Given the description of an element on the screen output the (x, y) to click on. 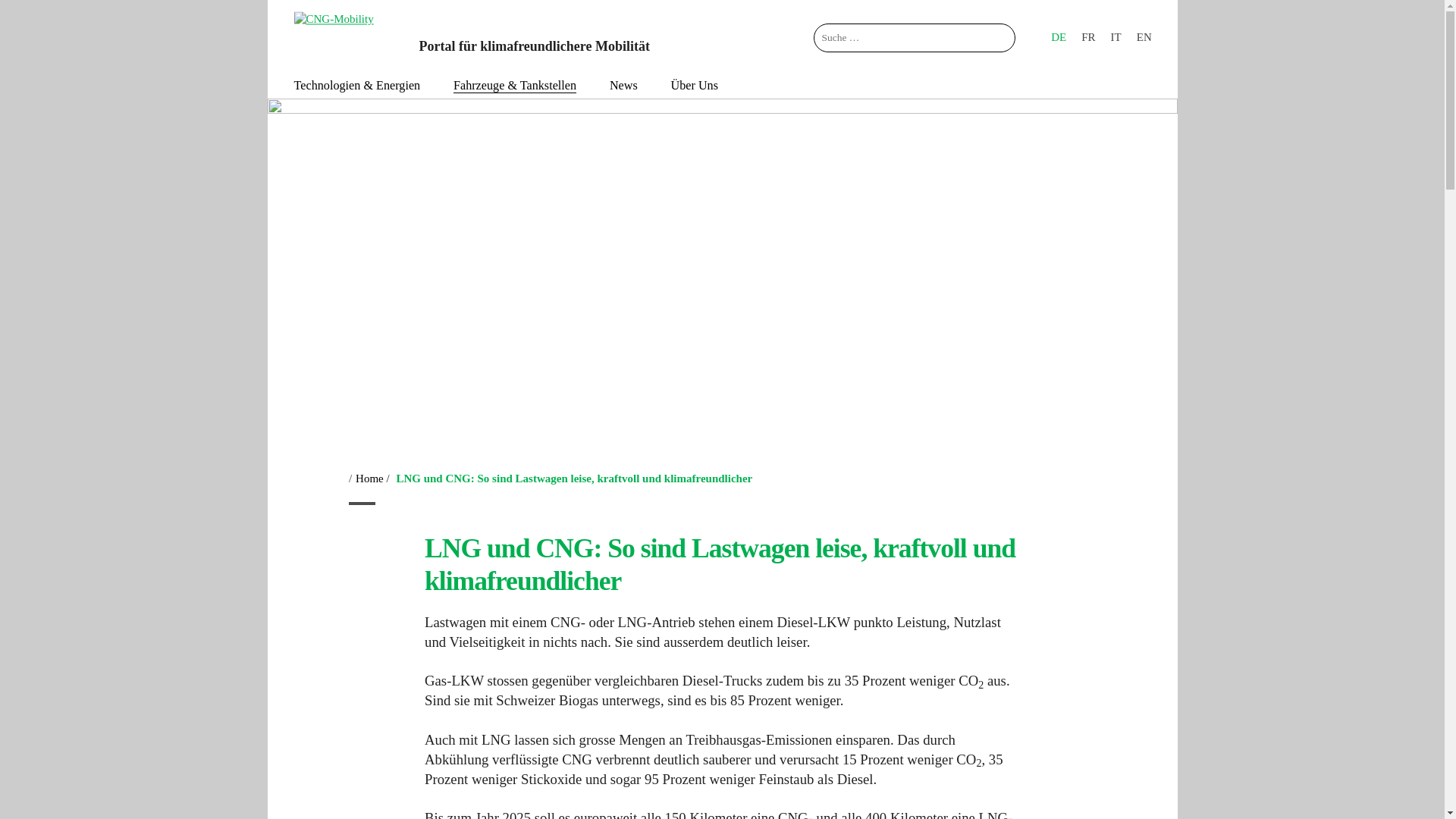
DE Element type: text (1058, 37)
FR Element type: text (1087, 37)
News Element type: text (623, 85)
IT Element type: text (1116, 37)
Fahrzeuge & Tankstellen Element type: text (514, 85)
Home Element type: text (369, 478)
Suche Element type: text (94, 16)
EN Element type: text (1144, 37)
Technologien & Energien Element type: text (357, 85)
